Given the description of an element on the screen output the (x, y) to click on. 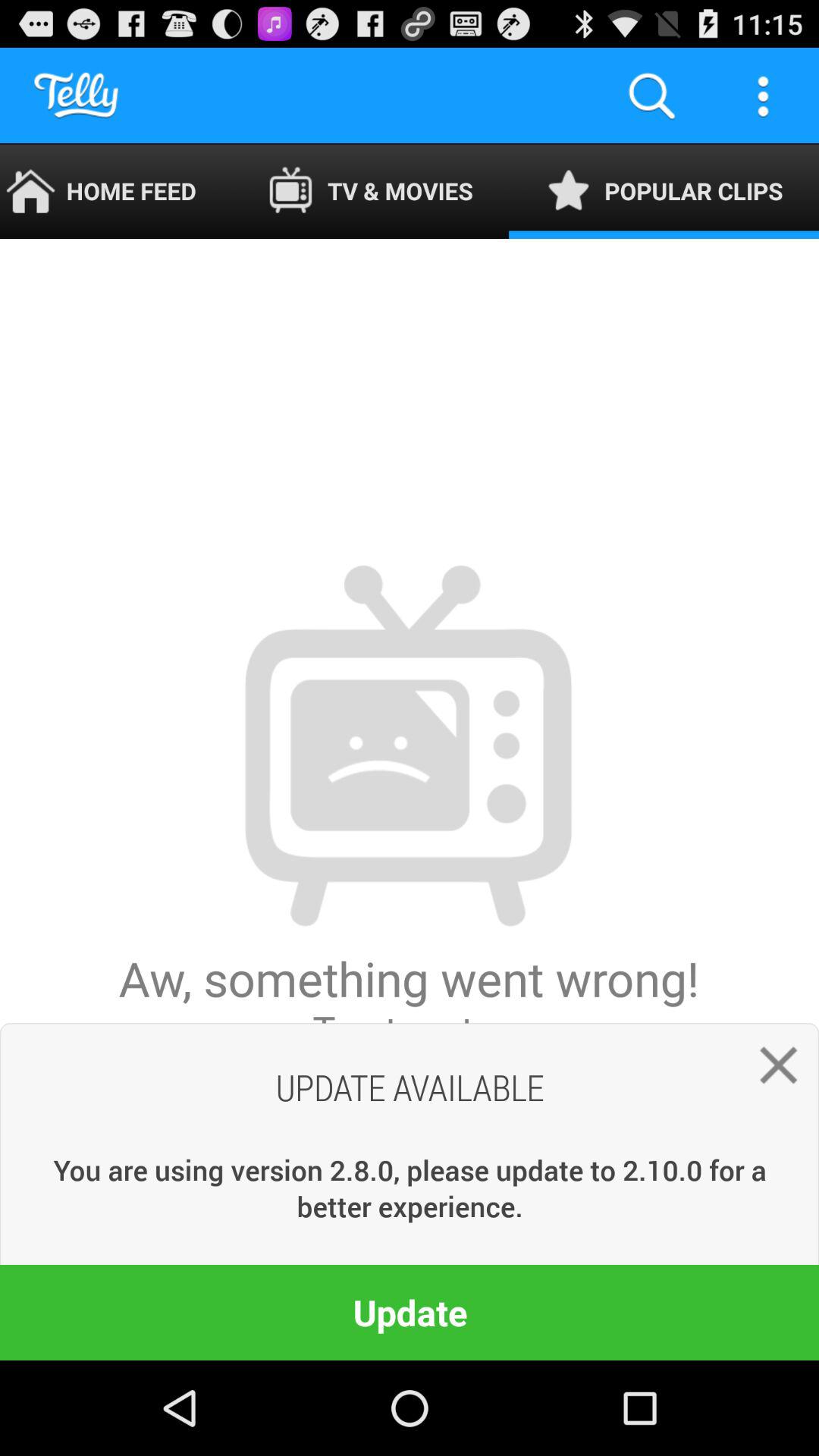
tap icon at the bottom right corner (771, 1070)
